Given the description of an element on the screen output the (x, y) to click on. 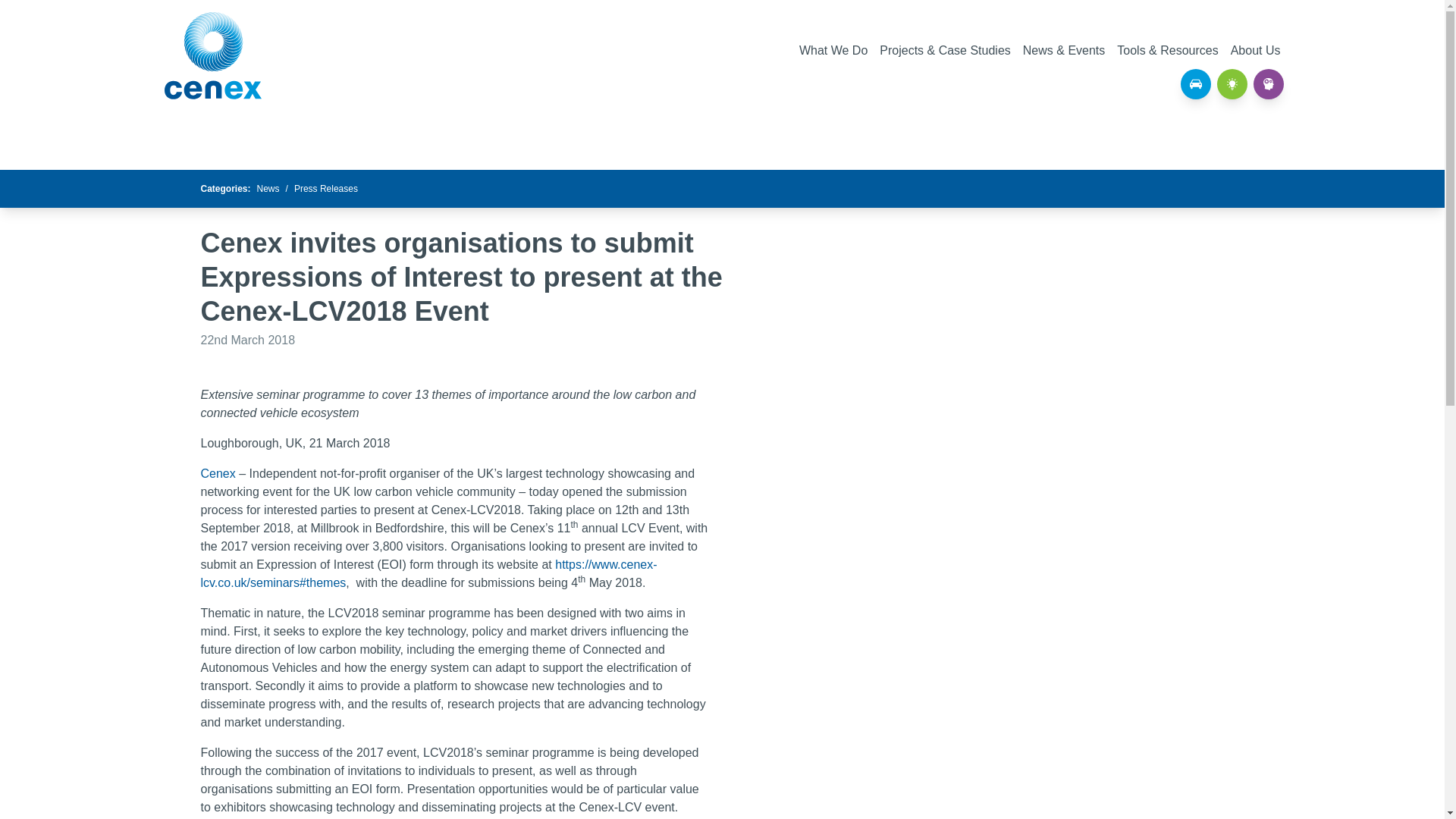
What We Do (833, 50)
Transport (1194, 83)
About Us (1255, 50)
Cenex (217, 472)
Cenex (211, 55)
Transport (1194, 83)
